Given the description of an element on the screen output the (x, y) to click on. 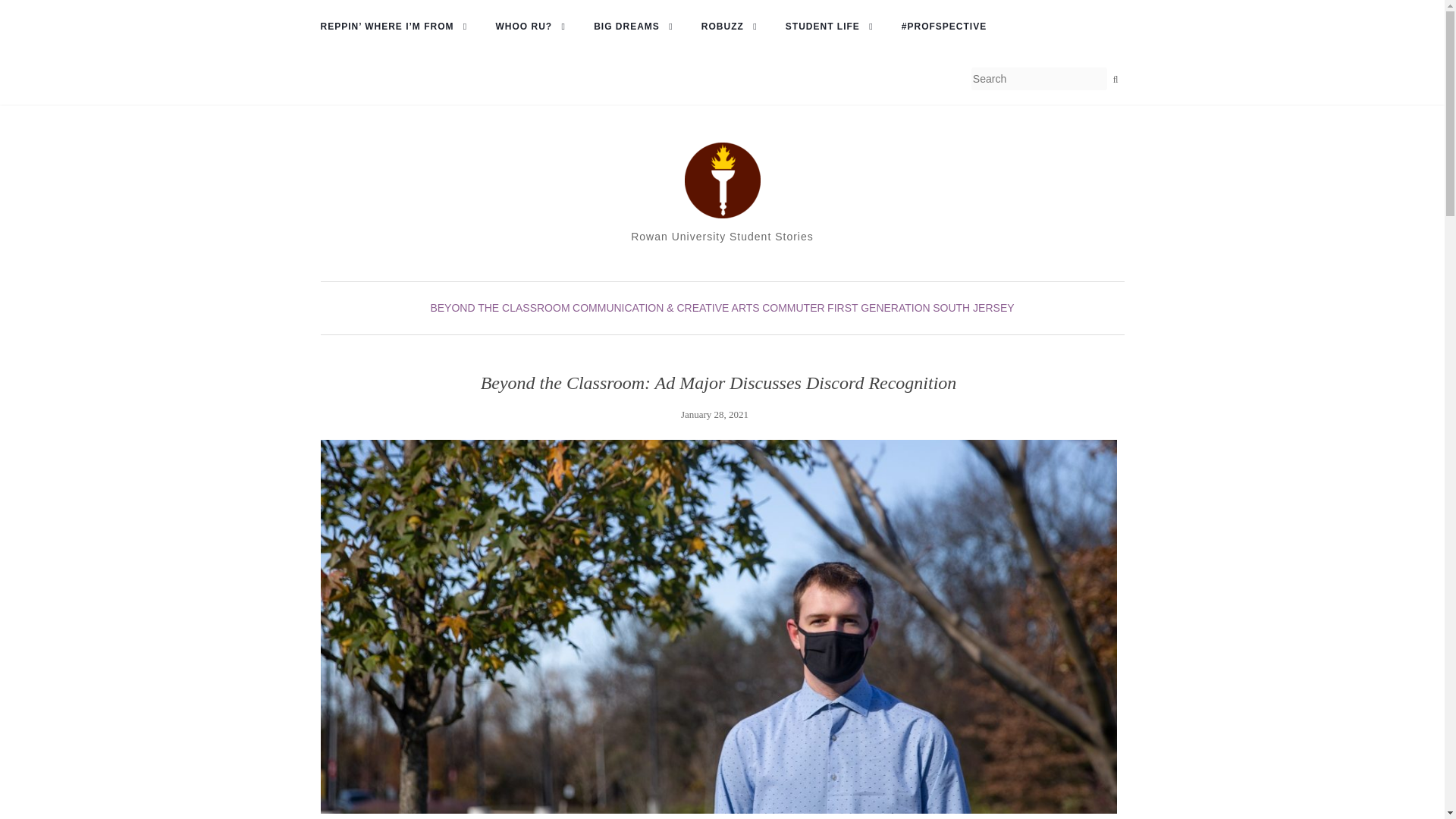
Reppin' Where I'm From (398, 27)
Big Dreams (638, 27)
BEYOND THE CLASSROOM (499, 307)
STUDENT LIFE (834, 27)
COMMUTER (792, 307)
ROBUZZ (734, 27)
Whoo RU? (535, 27)
BIG DREAMS (638, 27)
FIRST GENERATION (878, 307)
SOUTH JERSEY (973, 307)
